Given the description of an element on the screen output the (x, y) to click on. 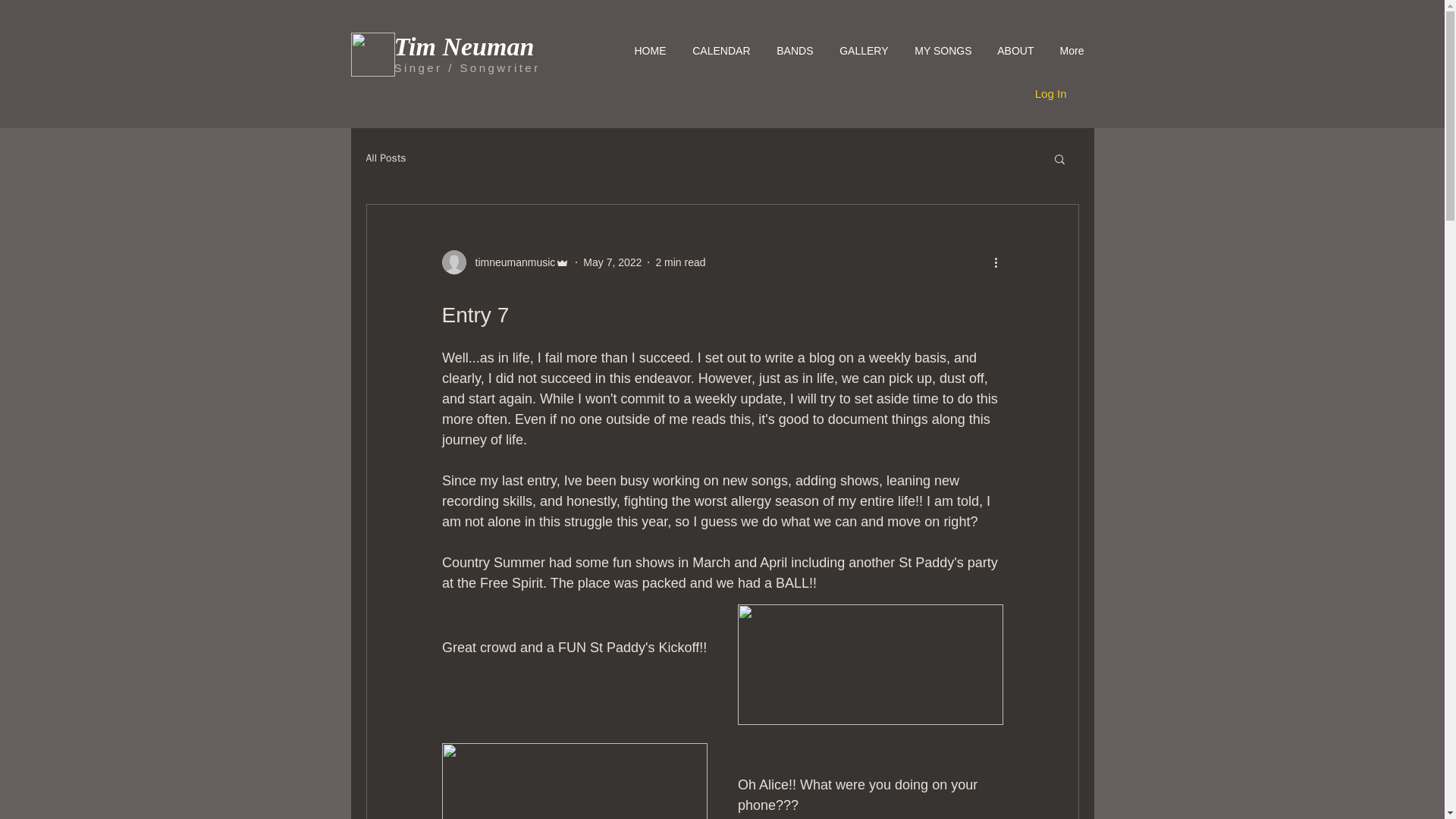
timneumanmusic (509, 262)
MY SONGS (939, 50)
GALLERY (861, 50)
HOME (646, 50)
2 min read (679, 262)
Tim Neuman (464, 46)
ABOUT (1012, 50)
CALENDAR (718, 50)
Log In (1051, 93)
BANDS (791, 50)
May 7, 2022 (612, 262)
All Posts (385, 158)
timneumanmusic (505, 262)
